Given the description of an element on the screen output the (x, y) to click on. 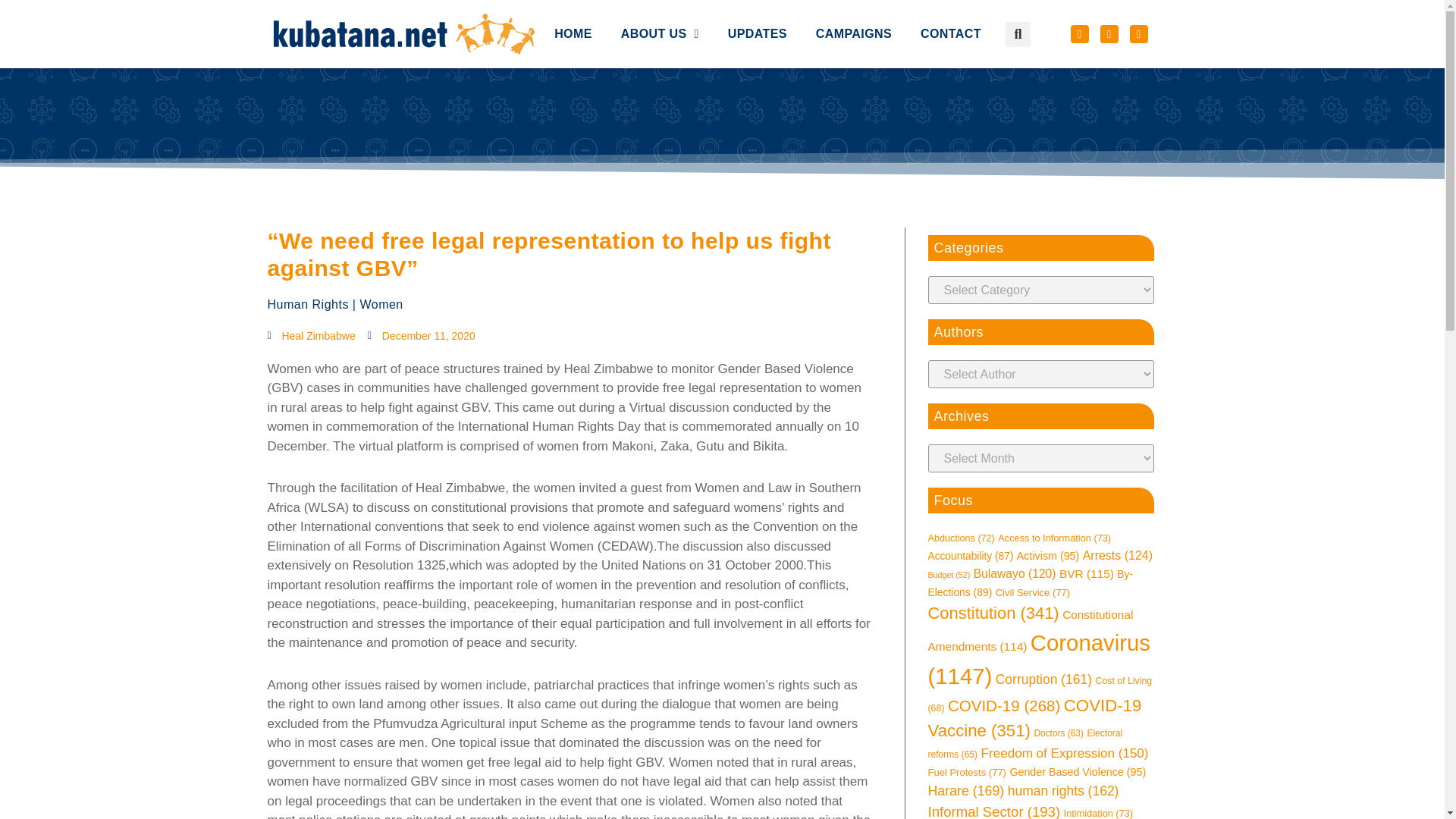
Human Rights (306, 304)
Heal Zimbabwe (310, 335)
CAMPAIGNS (853, 4)
CONTACT (950, 5)
Women (381, 304)
UPDATES (756, 2)
